Given the description of an element on the screen output the (x, y) to click on. 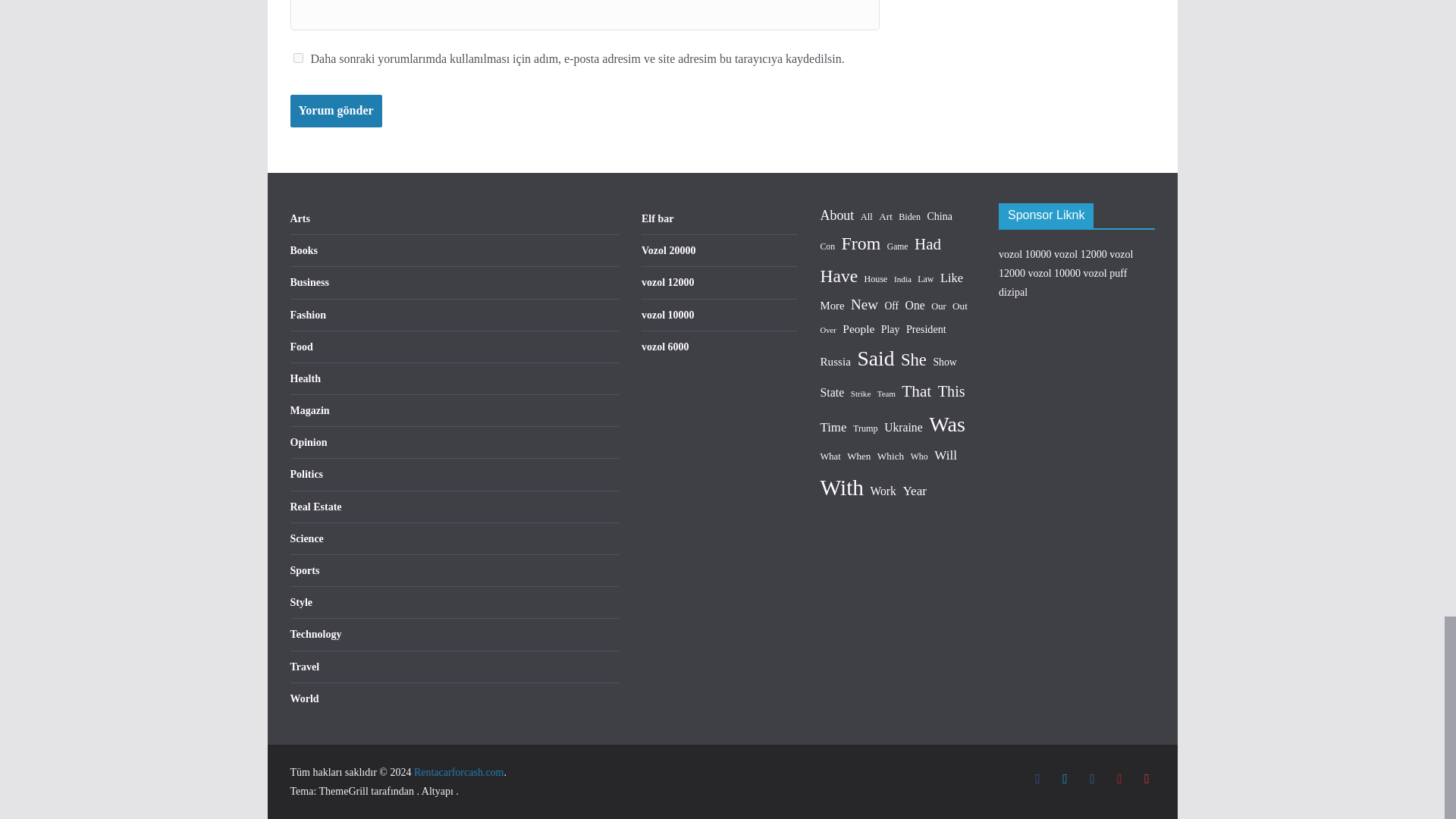
yes (297, 58)
